Given the description of an element on the screen output the (x, y) to click on. 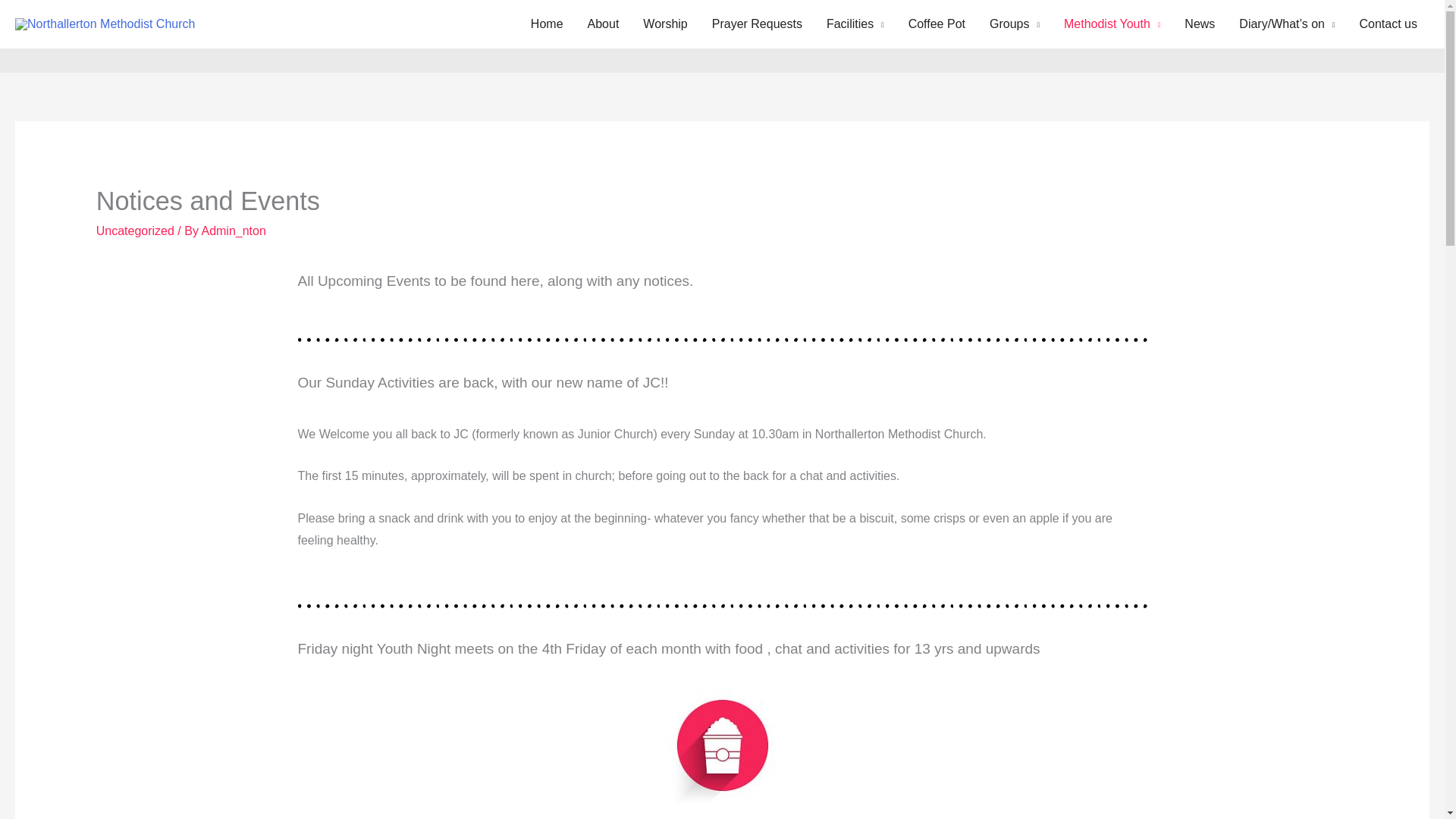
Home (546, 24)
Groups (1013, 24)
Contact us (1388, 24)
Worship (664, 24)
About (603, 24)
Uncategorized (135, 230)
Facilities (854, 24)
News (1199, 24)
Methodist Youth (1111, 24)
Prayer Requests (756, 24)
